Given the description of an element on the screen output the (x, y) to click on. 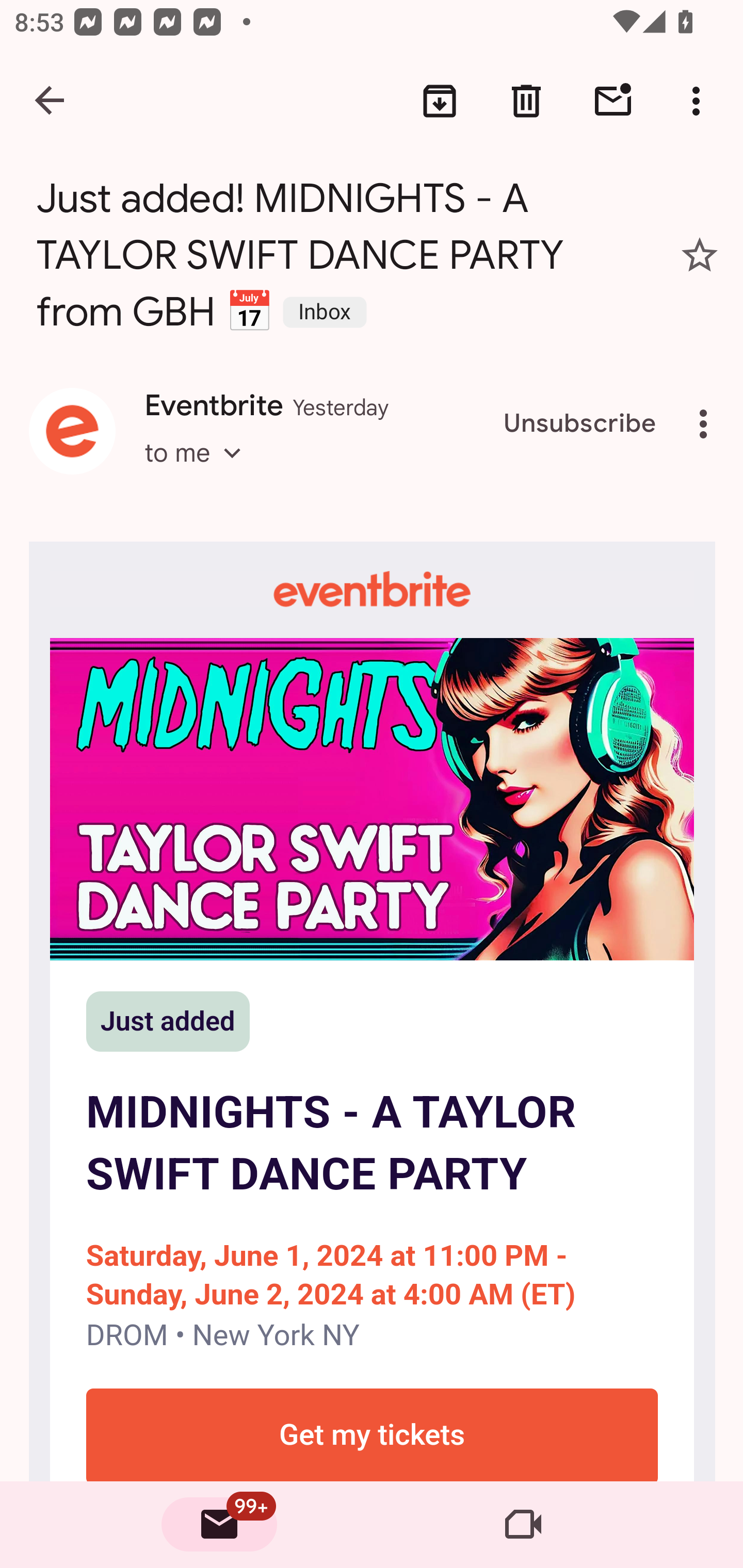
Navigate up (50, 101)
Archive (439, 101)
Delete (525, 101)
Mark unread (612, 101)
More options (699, 101)
Add star (699, 254)
Unsubscribe (579, 424)
More options (706, 424)
Show contact information for Eventbrite (71, 431)
to me (199, 471)
MIDNIGHTS - A TAYLOR SWIFT DANCE PARTY (371, 798)
MIDNIGHTS - A TAYLOR SWIFT DANCE PARTY (371, 1143)
Get my tickets (371, 1433)
Meet (523, 1524)
